Given the description of an element on the screen output the (x, y) to click on. 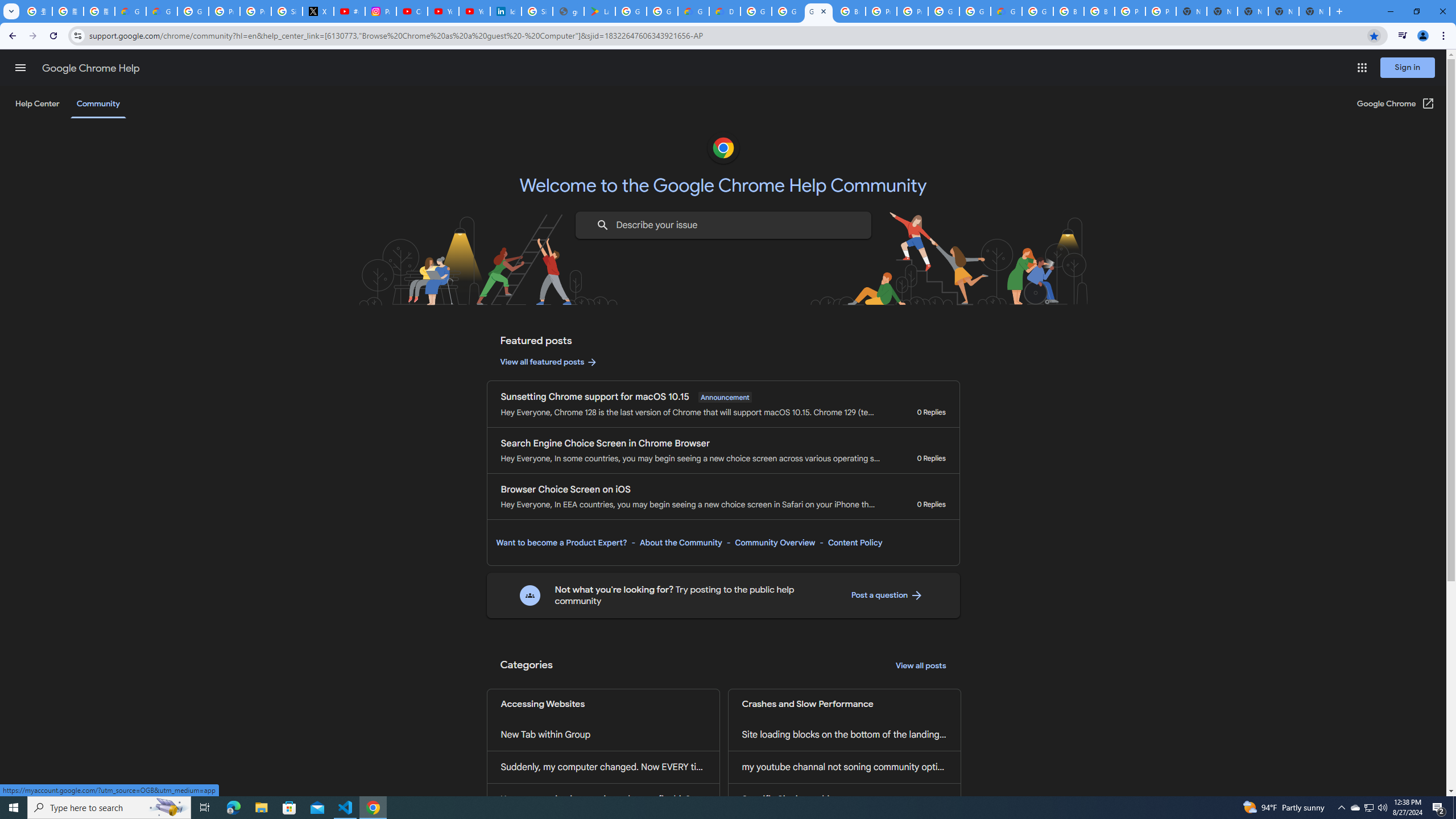
Identity verification via Persona | LinkedIn Help (505, 11)
X (318, 11)
Privacy Help Center - Policies Help (223, 11)
Want to become a Product Expert? (561, 542)
Main menu (20, 67)
View all posts (920, 665)
